Given the description of an element on the screen output the (x, y) to click on. 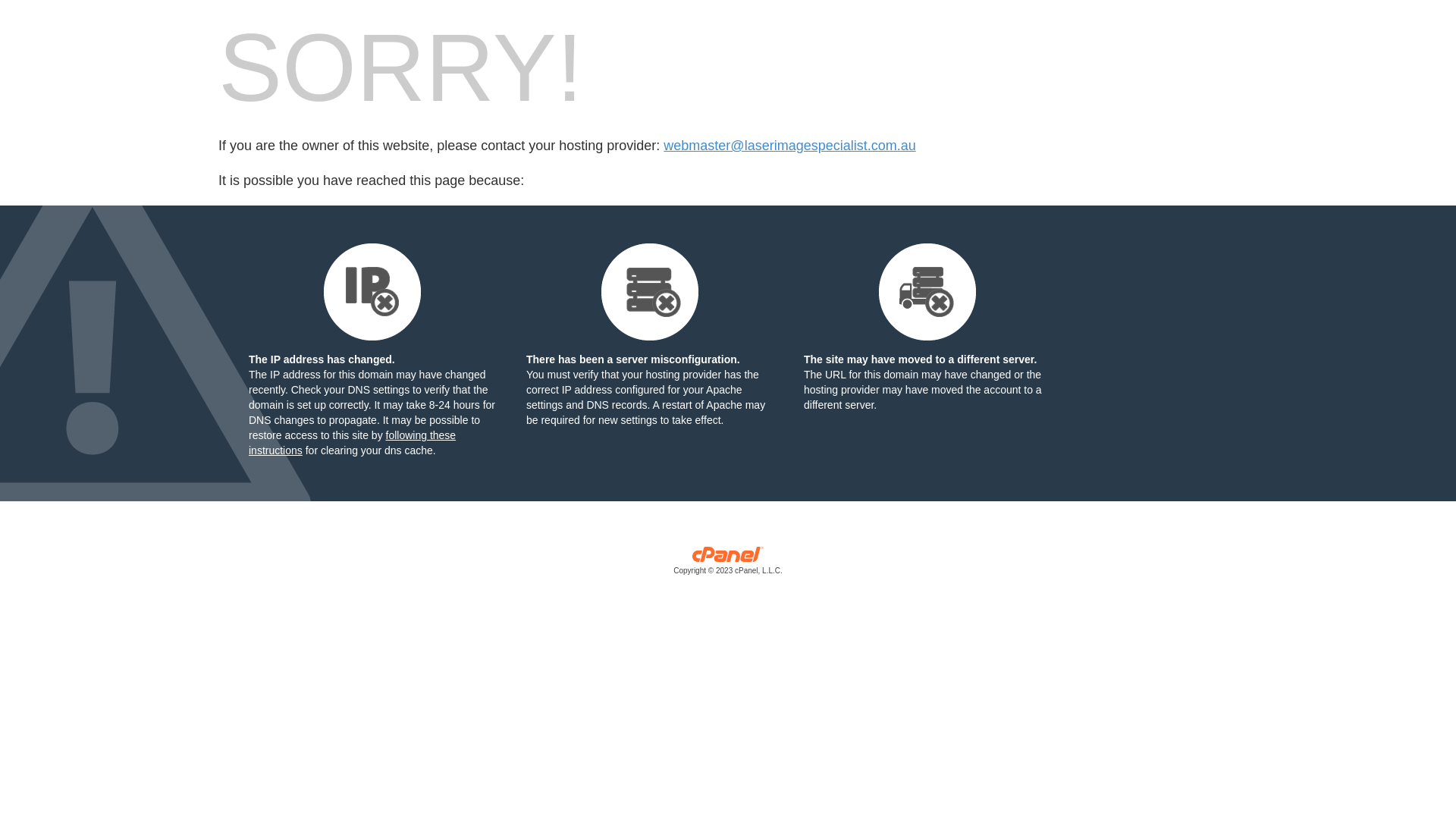
following these instructions Element type: text (351, 442)
webmaster@laserimagespecialist.com.au Element type: text (789, 145)
